Given the description of an element on the screen output the (x, y) to click on. 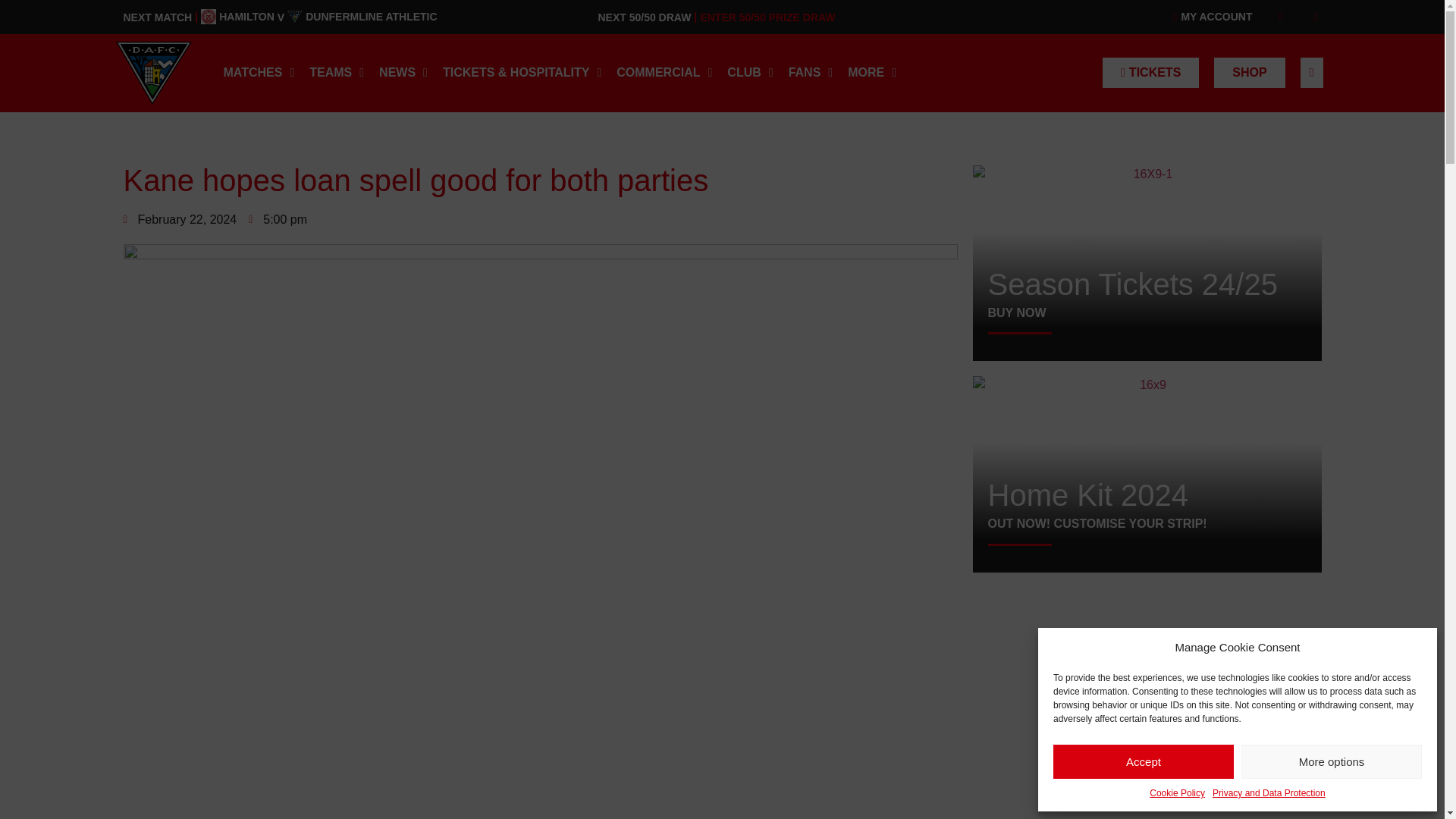
More options (1331, 761)
MATCHES (258, 72)
TEAMS (318, 16)
NEWS (336, 72)
Accept (403, 72)
Cookie Policy (1142, 761)
MY ACCOUNT (1177, 793)
Privacy and Data Protection (1207, 17)
